Given the description of an element on the screen output the (x, y) to click on. 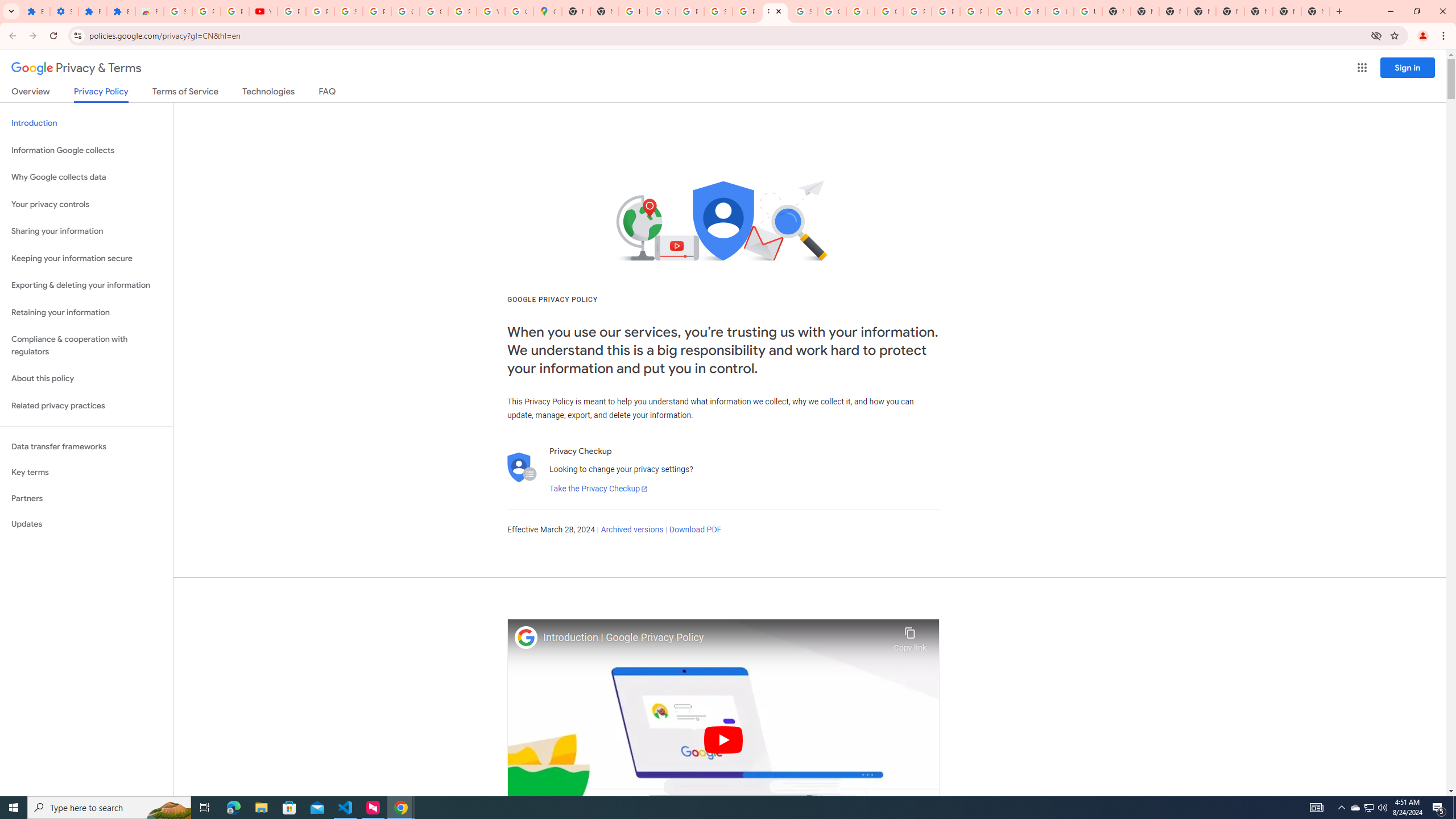
New Tab (1173, 11)
Privacy Help Center - Policies Help (945, 11)
YouTube (1002, 11)
https://scholar.google.com/ (632, 11)
Extensions (92, 11)
Take the Privacy Checkup (597, 488)
